Given the description of an element on the screen output the (x, y) to click on. 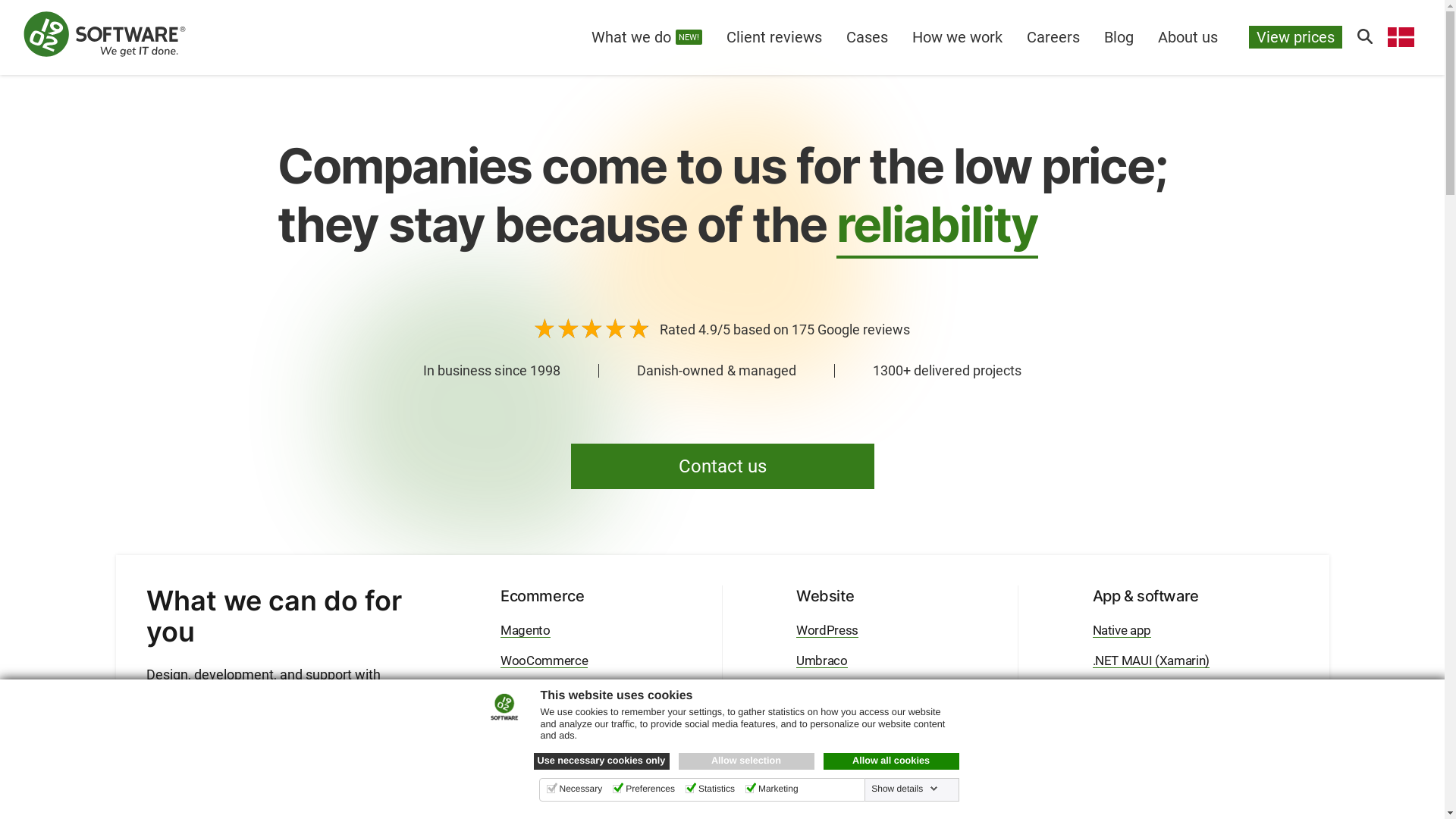
Allow selection Element type: text (745, 761)
Website design Element type: text (838, 720)
What we do
NEW! Element type: text (646, 36)
Ecommerce review Element type: text (553, 751)
Rated 4.9/5 based on 175 Google reviews Element type: text (722, 328)
Use necessary cookies only Element type: text (601, 761)
Show details Element type: text (904, 788)
Software review Element type: text (1136, 751)
Allow all cookies Element type: text (891, 761)
Website review Element type: text (837, 751)
.NET MAUI (Xamarin) Element type: text (1150, 660)
Blog Element type: text (1118, 36)
App & software Element type: text (1145, 596)
Framework-based Element type: text (846, 690)
Umbraco Element type: text (821, 660)
How we work Element type: text (957, 36)
WordPress Element type: text (827, 629)
Software design Element type: text (1137, 720)
View prices Element type: text (1295, 36)
Umbraco Element type: text (526, 690)
Cases Element type: text (867, 36)
Native app Element type: text (1121, 629)
WooCommerce Element type: text (543, 660)
Client reviews Element type: text (774, 36)
Website Element type: text (824, 596)
Careers Element type: text (1053, 36)
About us Element type: text (1187, 36)
Contact us Element type: text (721, 466)
Ecommerce design Element type: text (554, 720)
Ecommerce Element type: text (541, 596)
.NET Element type: text (1105, 690)
Magento Element type: text (525, 629)
